Given the description of an element on the screen output the (x, y) to click on. 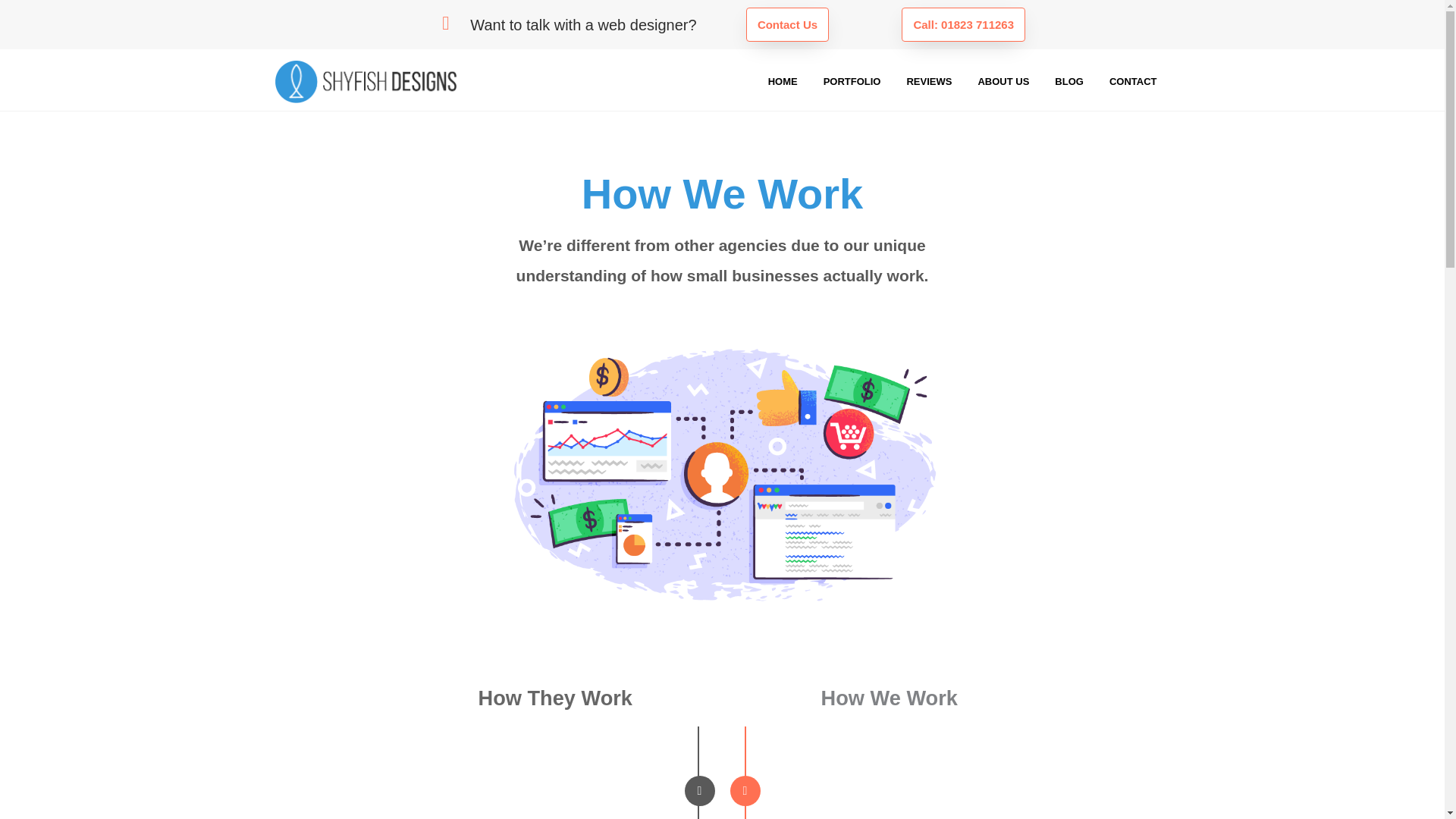
PORTFOLIO (851, 81)
BLOG (1069, 81)
Contact Us (786, 24)
REVIEWS (928, 81)
ABOUT US (1002, 81)
HOME (782, 81)
CONTACT (1133, 81)
Call: 01823 711263 (963, 24)
